Given the description of an element on the screen output the (x, y) to click on. 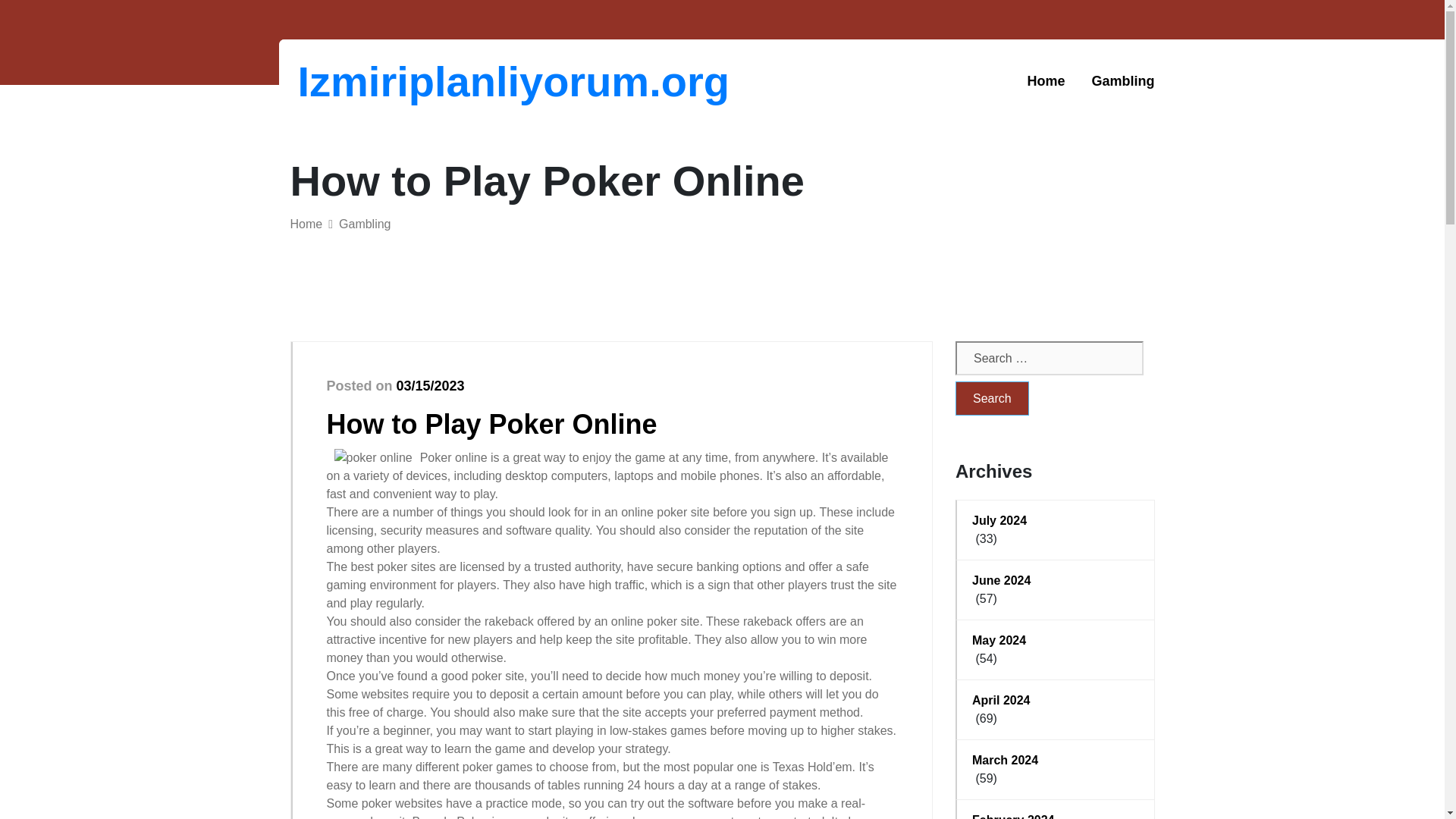
Home (305, 223)
June 2024 (1055, 580)
Search (992, 398)
April 2024 (1055, 700)
Gambling (1122, 81)
February 2024 (1055, 815)
Search (992, 398)
March 2024 (1055, 760)
July 2024 (1055, 520)
May 2024 (1055, 640)
Search (992, 398)
Gambling (1122, 81)
Izmiriplanliyorum.org (376, 81)
Gambling (364, 223)
How to Play Poker Online (491, 423)
